Given the description of an element on the screen output the (x, y) to click on. 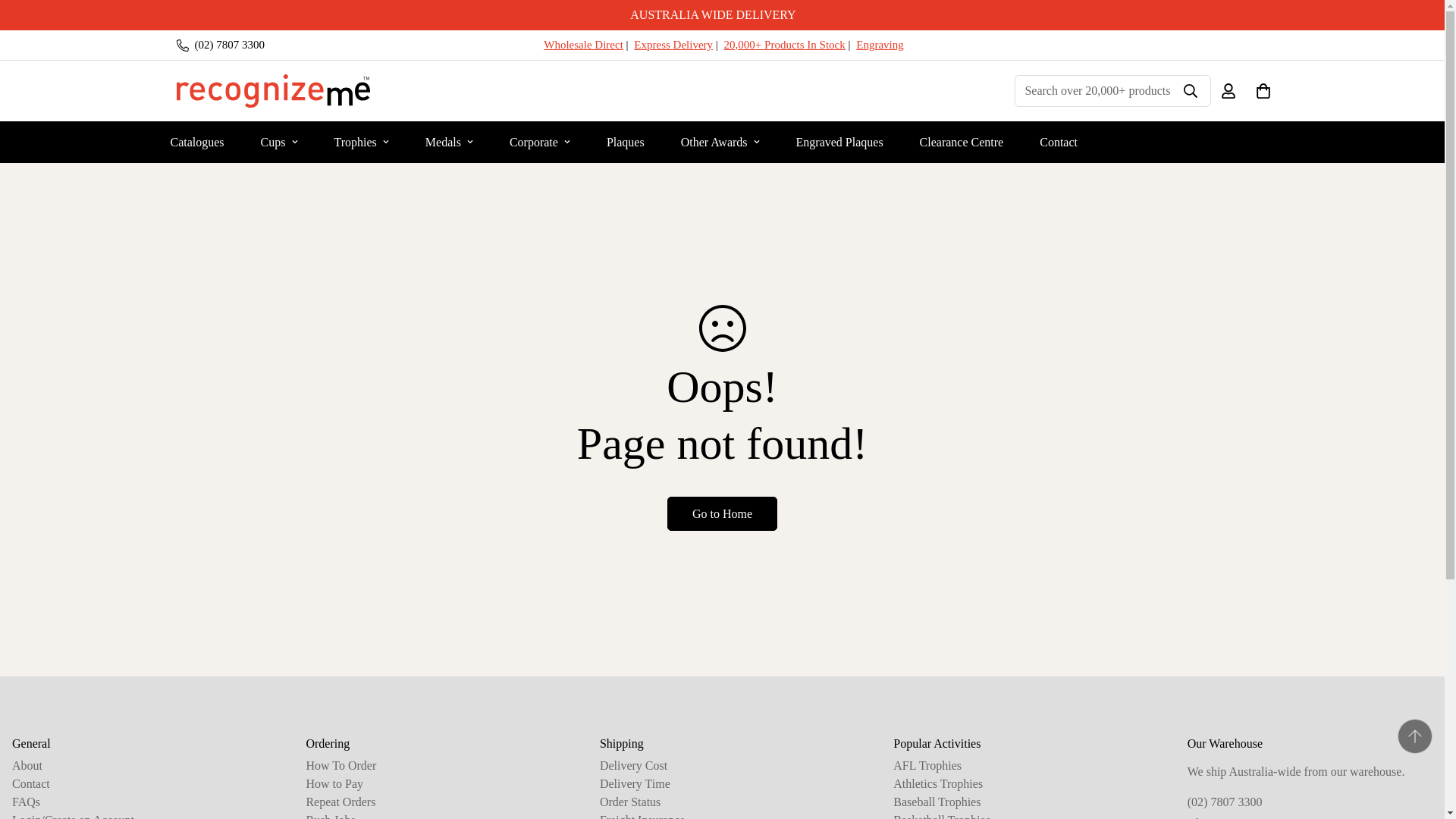
Trophies (360, 141)
Wholesale Direct (583, 44)
Recognizeme (272, 90)
Cups (279, 141)
AUSTRALIA WIDE DELIVERY (722, 15)
Express Delivery (673, 44)
Catalogues (196, 141)
Engraving (879, 44)
